Given the description of an element on the screen output the (x, y) to click on. 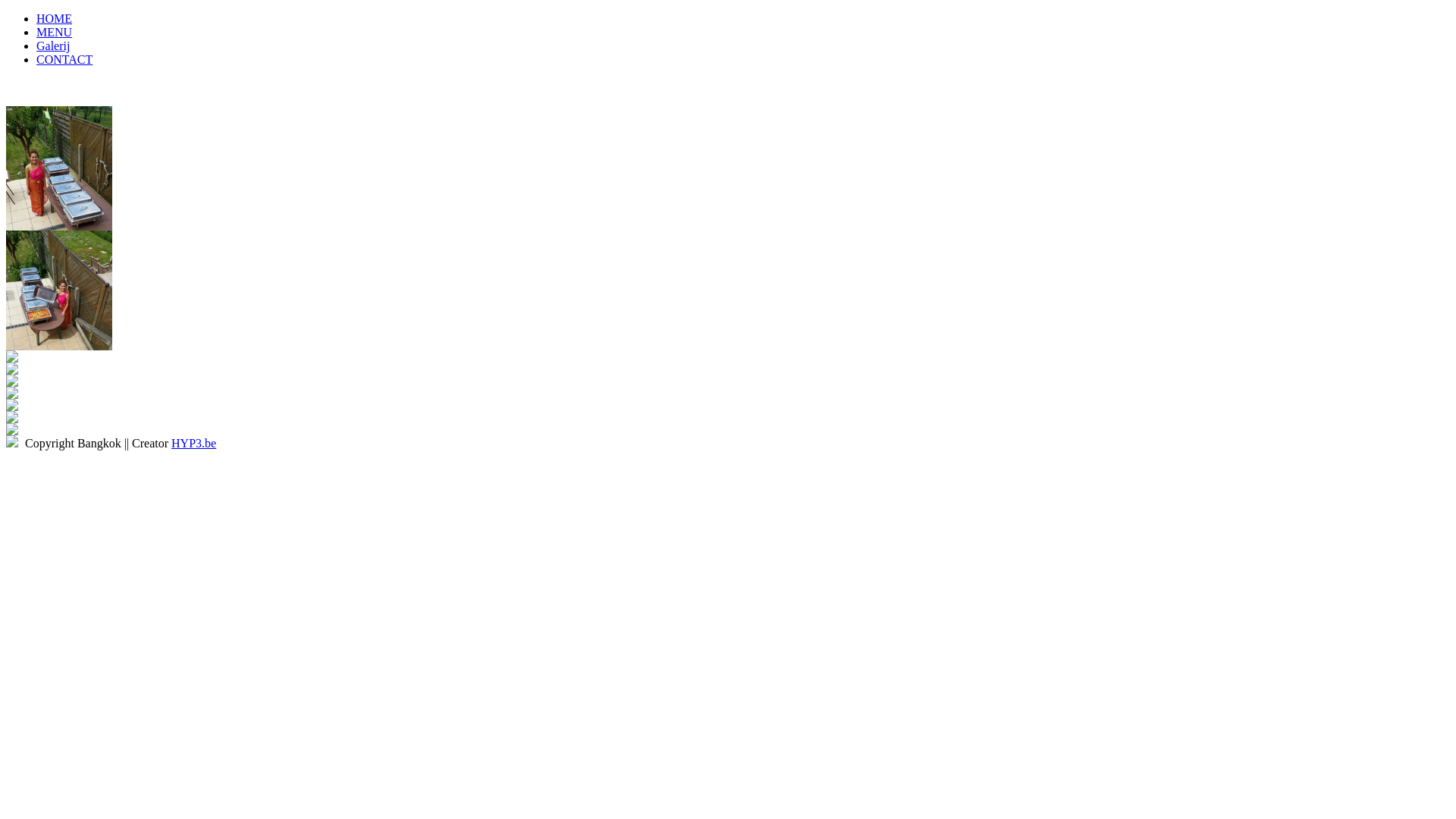
MENU Element type: text (54, 31)
HOME Element type: text (54, 18)
CONTACT Element type: text (64, 59)
Galerij Element type: text (52, 45)
HYP3.be Element type: text (193, 442)
